Given the description of an element on the screen output the (x, y) to click on. 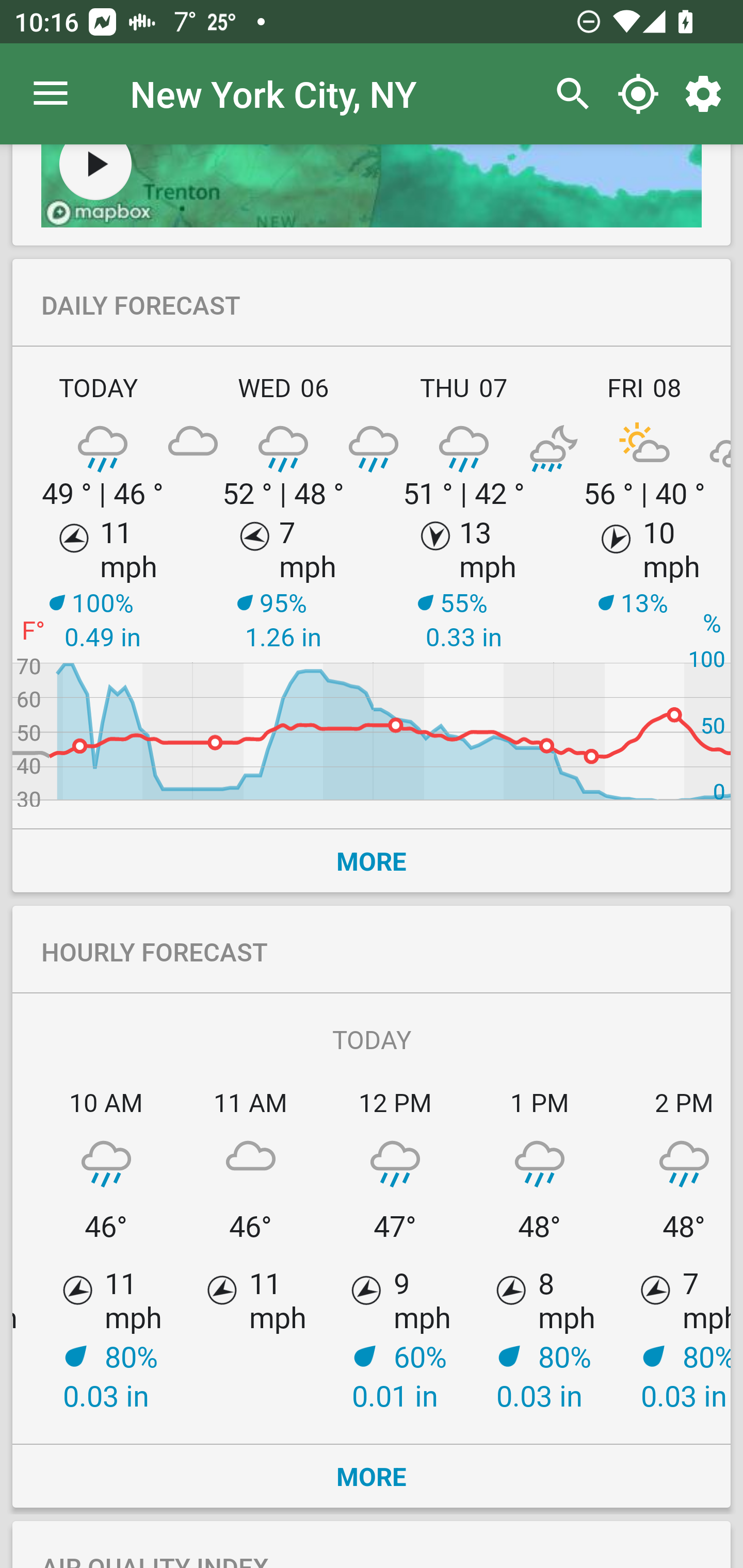
Press to open location manager. (50, 93)
Search for location (567, 94)
Select GPS location (637, 94)
Settings (706, 94)
New York City, NY (273, 92)
Weather Map (95, 172)
TODAY Rain 49 °  |  46 ° 11
mph 100% 0.49 in (102, 584)
WED 06 Rain 52 °  |  48 ° 7
mph 95% 1.26 in (283, 584)
THU 07 Showers 51 °  |  42 ° 13
mph 55% 0.33 in (463, 584)
FRI 08 Partly Cloudy 56 °  |  40 ° 10
mph 13% (642, 584)
MORE (371, 860)
10 AM 46° 11
mph 80% 0.03 in (106, 1249)
11 AM 46° 11
mph (250, 1249)
12 PM 47° 9
mph 60% 0.01 in (395, 1249)
1 PM 48° 8
mph 80% 0.03 in (539, 1249)
2 PM 48° 7
mph 80% 0.03 in (671, 1249)
MORE (371, 1475)
